Given the description of an element on the screen output the (x, y) to click on. 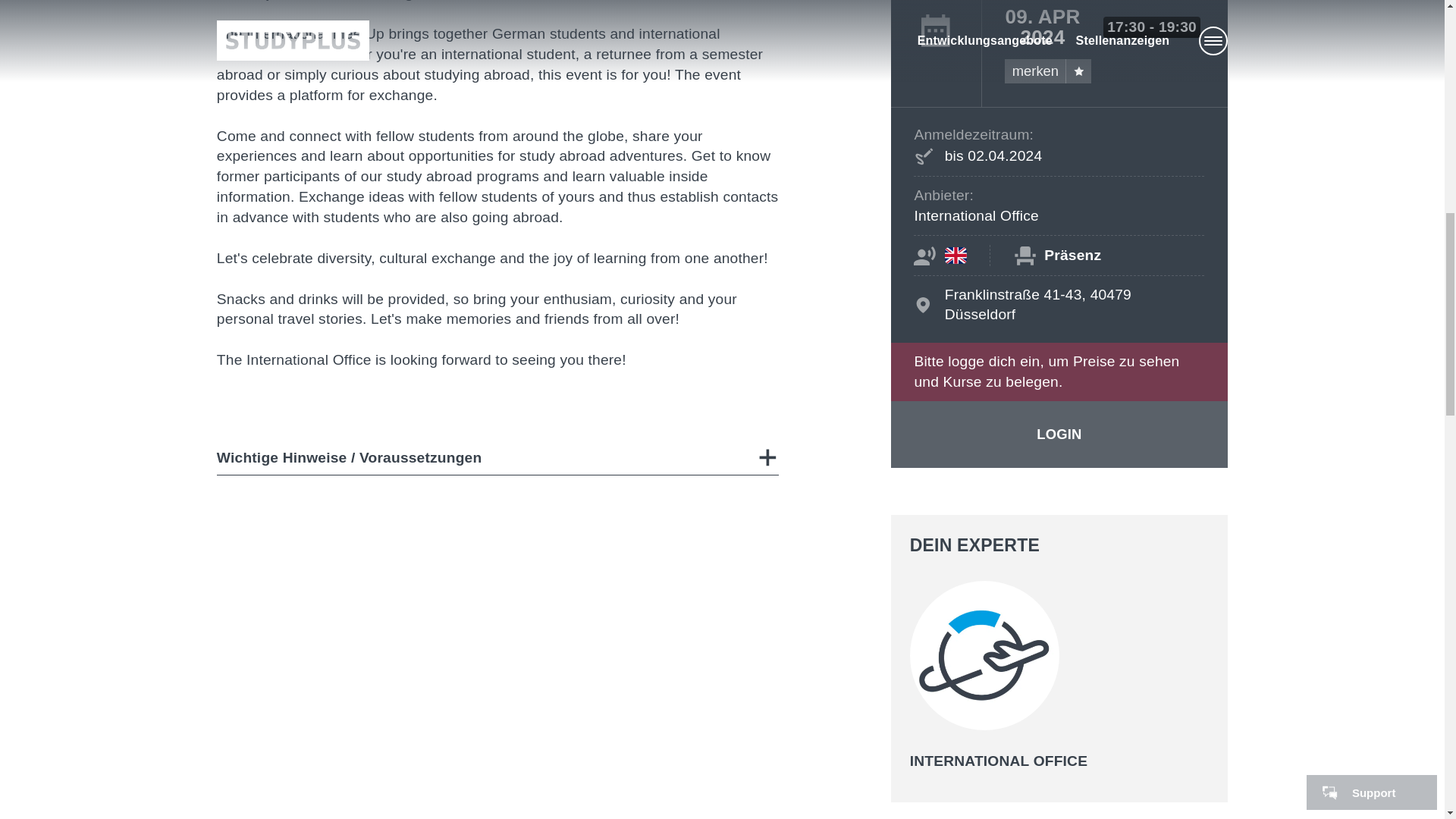
LOGIN (1059, 434)
merken (1047, 70)
